Given the description of an element on the screen output the (x, y) to click on. 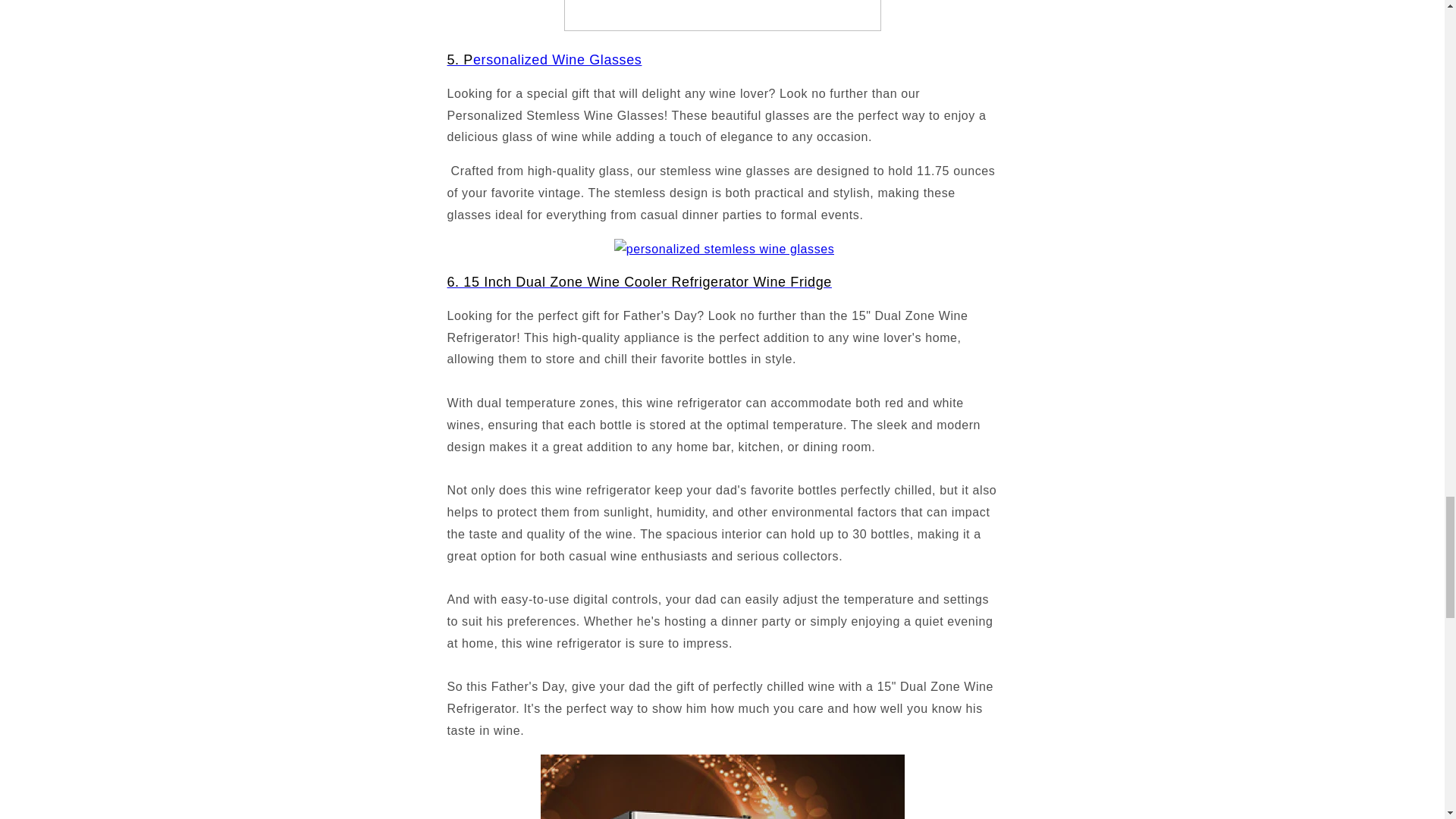
personalized stemless wine glasses (724, 248)
Dual zone wine fridge wine cooler (638, 281)
stemless personalized wine glasses (544, 59)
INsulated wine cooling glasses FREEZE stemless (722, 26)
